Given the description of an element on the screen output the (x, y) to click on. 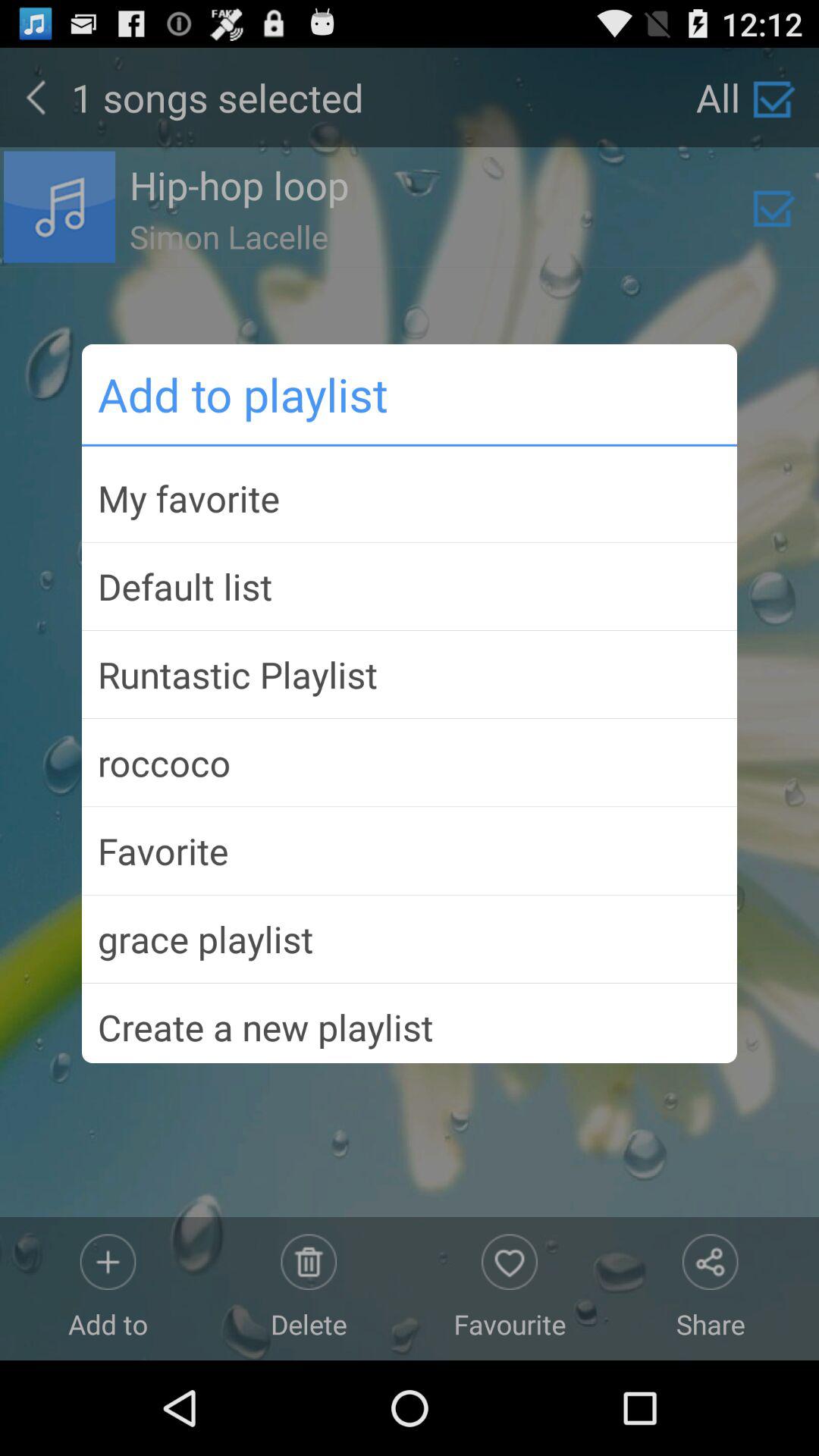
jump until the default list item (409, 586)
